Given the description of an element on the screen output the (x, y) to click on. 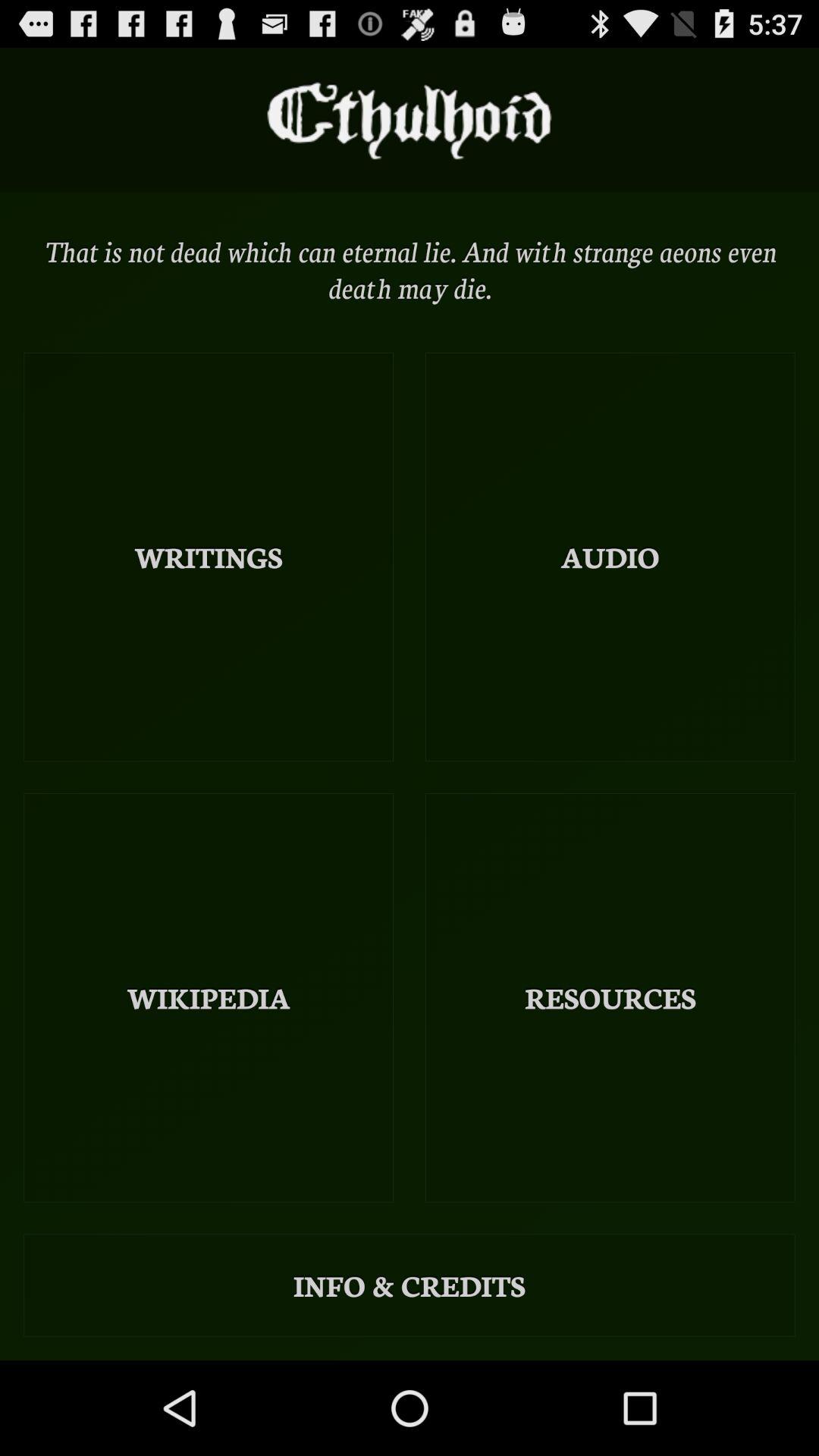
flip until wikipedia icon (208, 997)
